Given the description of an element on the screen output the (x, y) to click on. 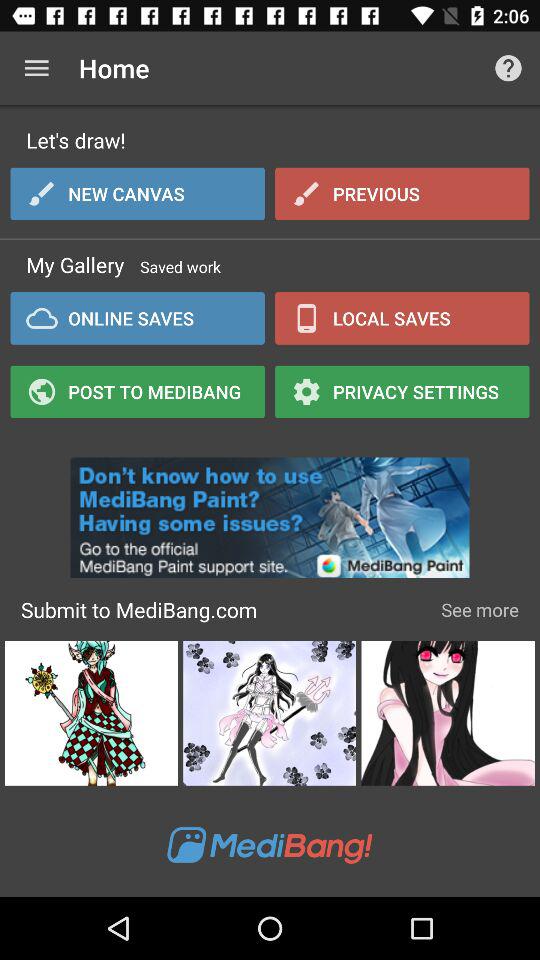
click privacy settings (402, 391)
